Given the description of an element on the screen output the (x, y) to click on. 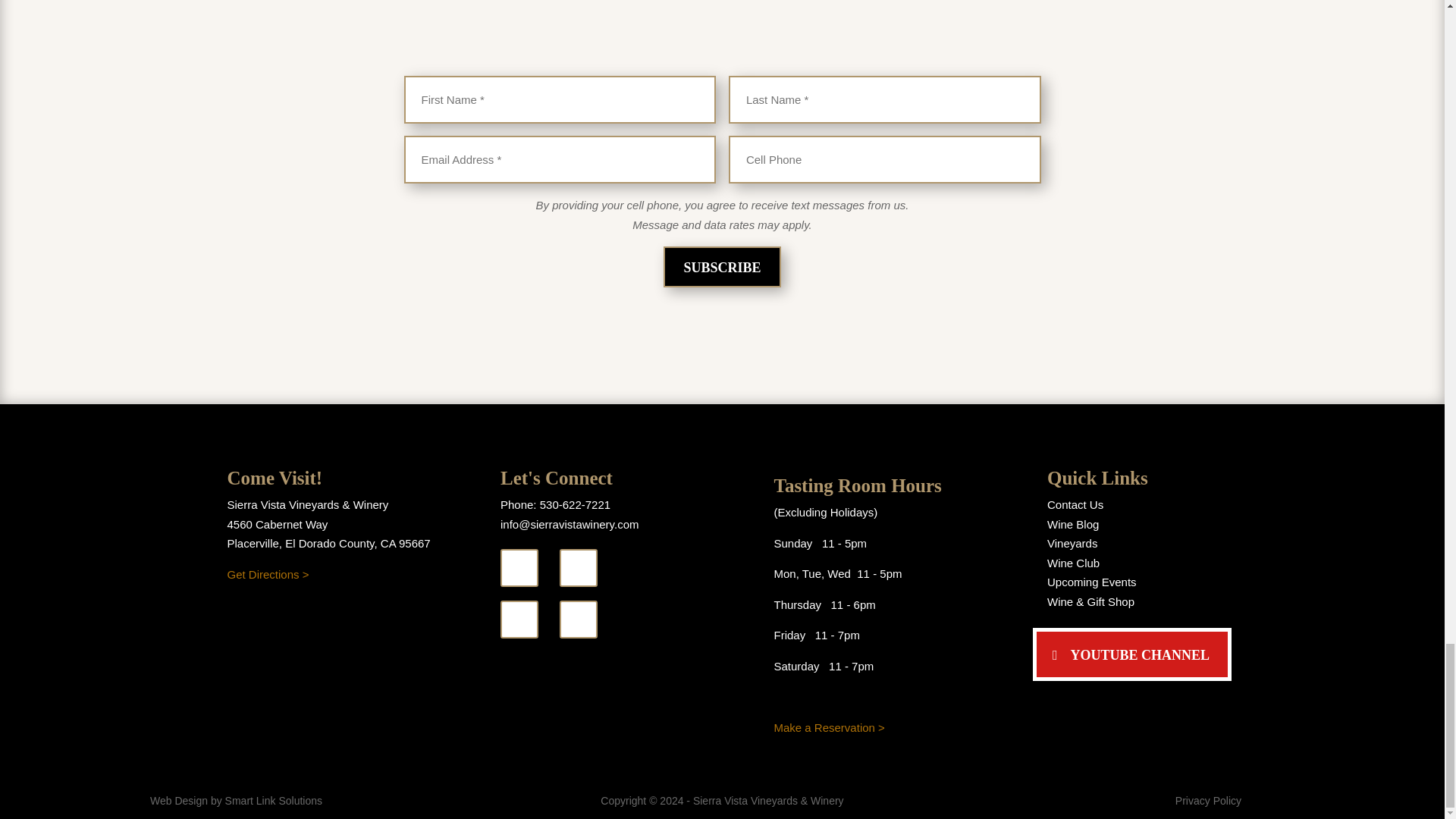
Follow on  (577, 567)
Follow on  (519, 567)
Follow on  (577, 619)
Follow on  (519, 619)
SUBSCRIBE (721, 266)
